Given the description of an element on the screen output the (x, y) to click on. 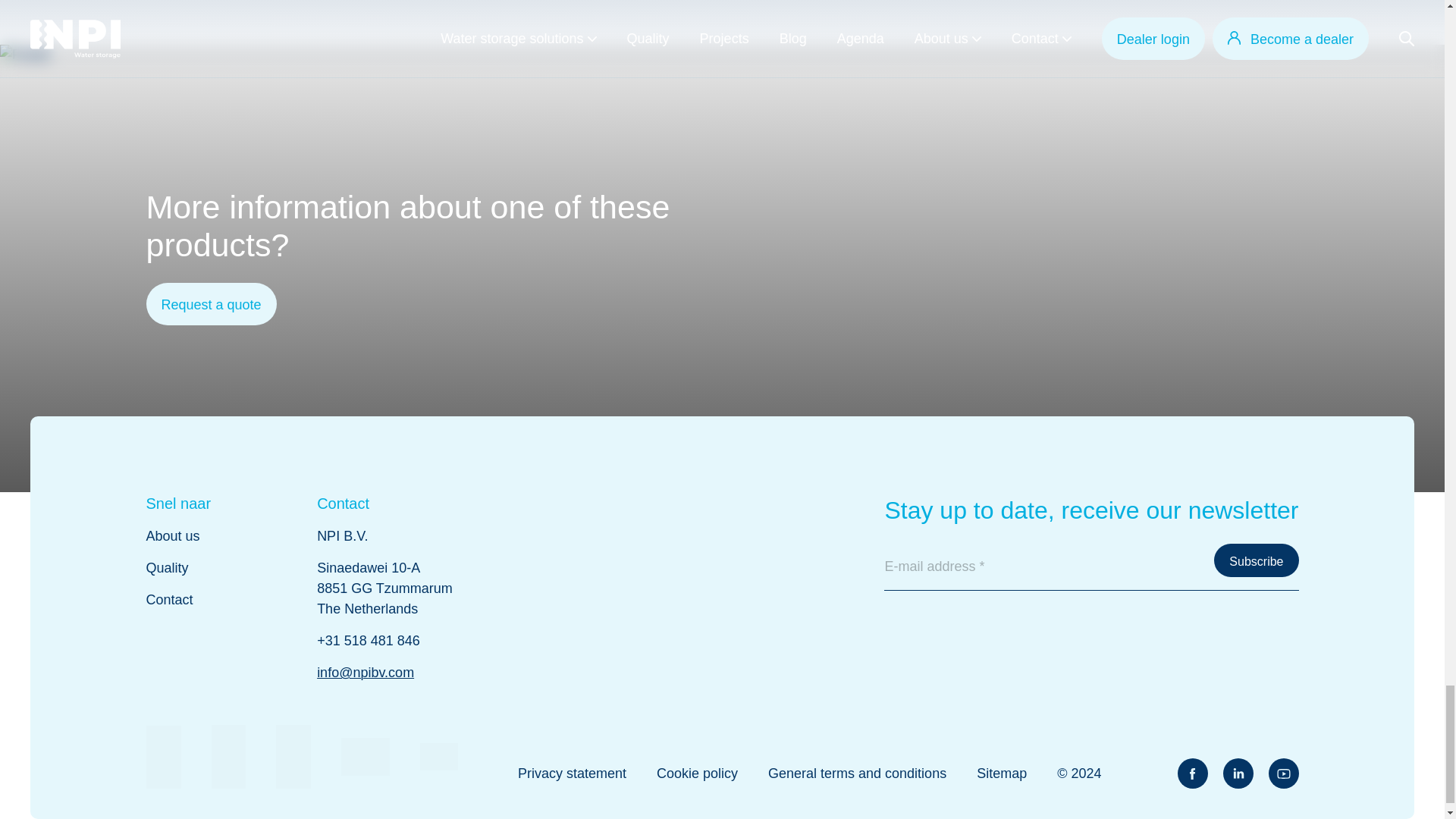
YouTube (1283, 773)
Request a quote (210, 303)
Subscribe (1256, 560)
Facebook (1191, 773)
LinkedIn (1237, 773)
E-mail address (1090, 566)
